Given the description of an element on the screen output the (x, y) to click on. 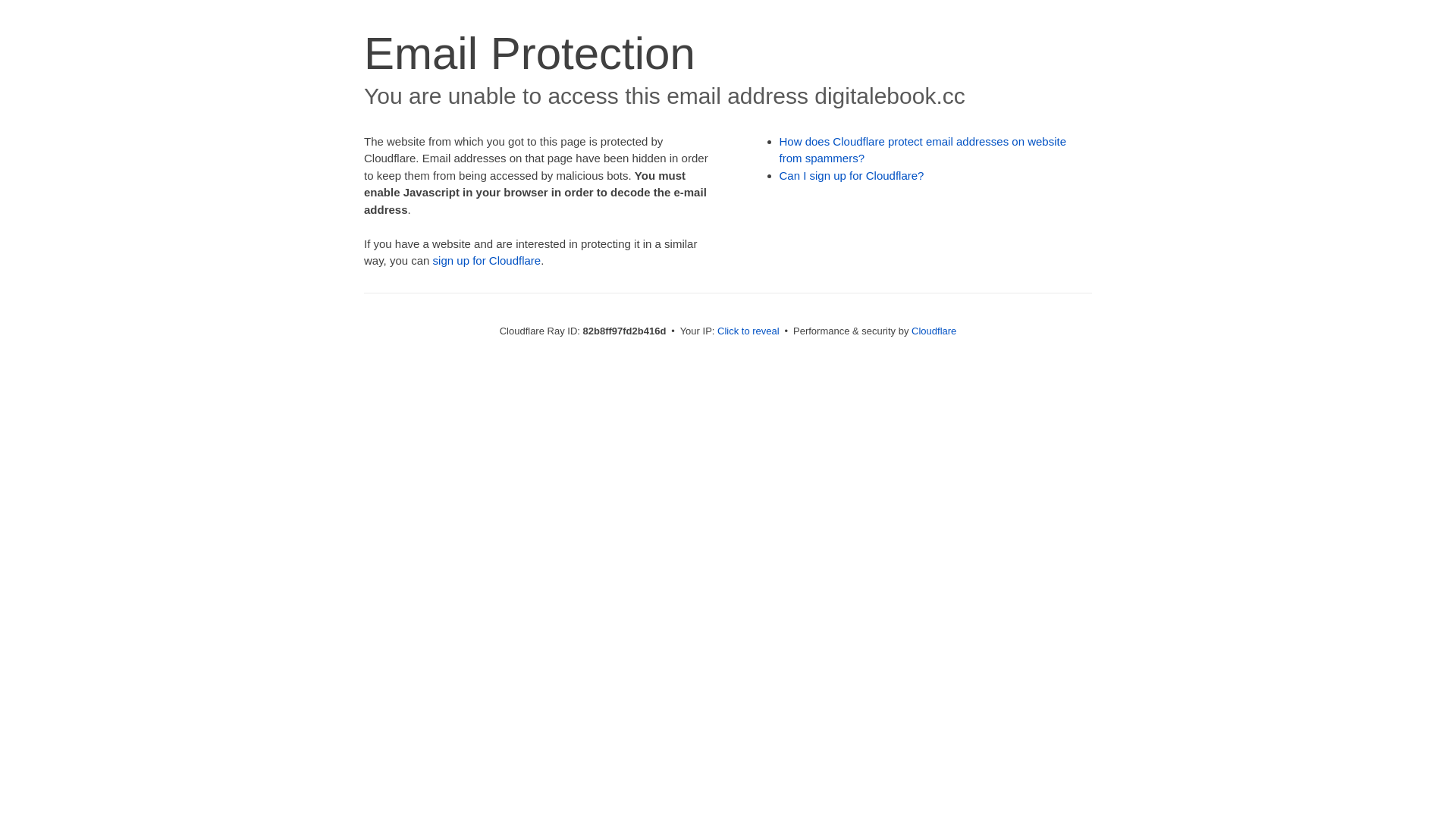
Click to reveal Element type: text (748, 330)
Cloudflare Element type: text (933, 330)
Can I sign up for Cloudflare? Element type: text (851, 175)
sign up for Cloudflare Element type: text (487, 260)
